Given the description of an element on the screen output the (x, y) to click on. 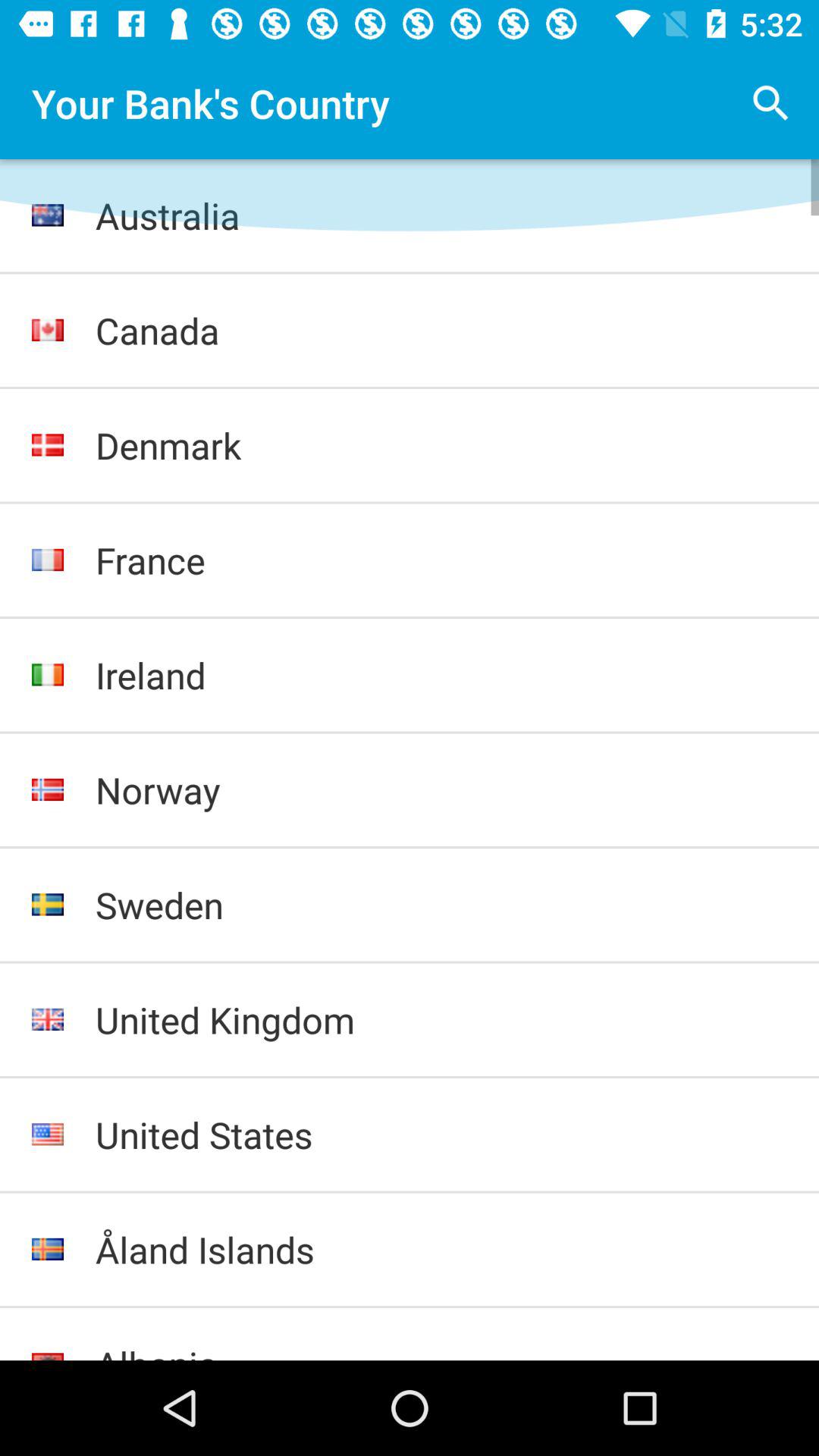
launch the item above the canada item (441, 215)
